Given the description of an element on the screen output the (x, y) to click on. 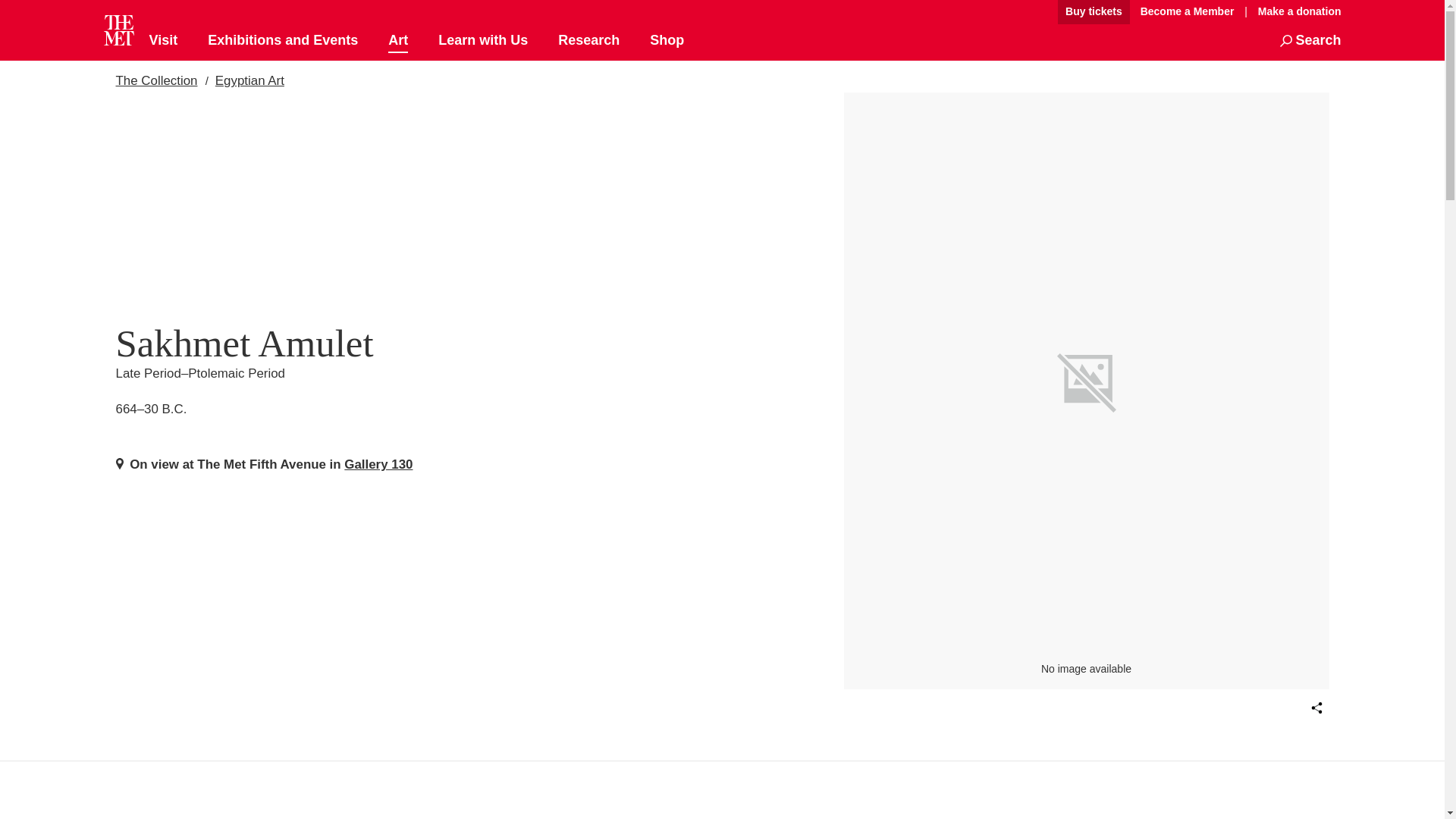
Search (1309, 41)
The Collection (155, 80)
Exhibitions and Events (283, 41)
Learn with Us (482, 41)
Visit (162, 41)
Research (588, 41)
Homepage (118, 30)
tickets (1093, 12)
Member (1186, 12)
Shop (666, 41)
Search Button (1309, 41)
Make a donation (1295, 11)
Jump to content (1005, 12)
